Given the description of an element on the screen output the (x, y) to click on. 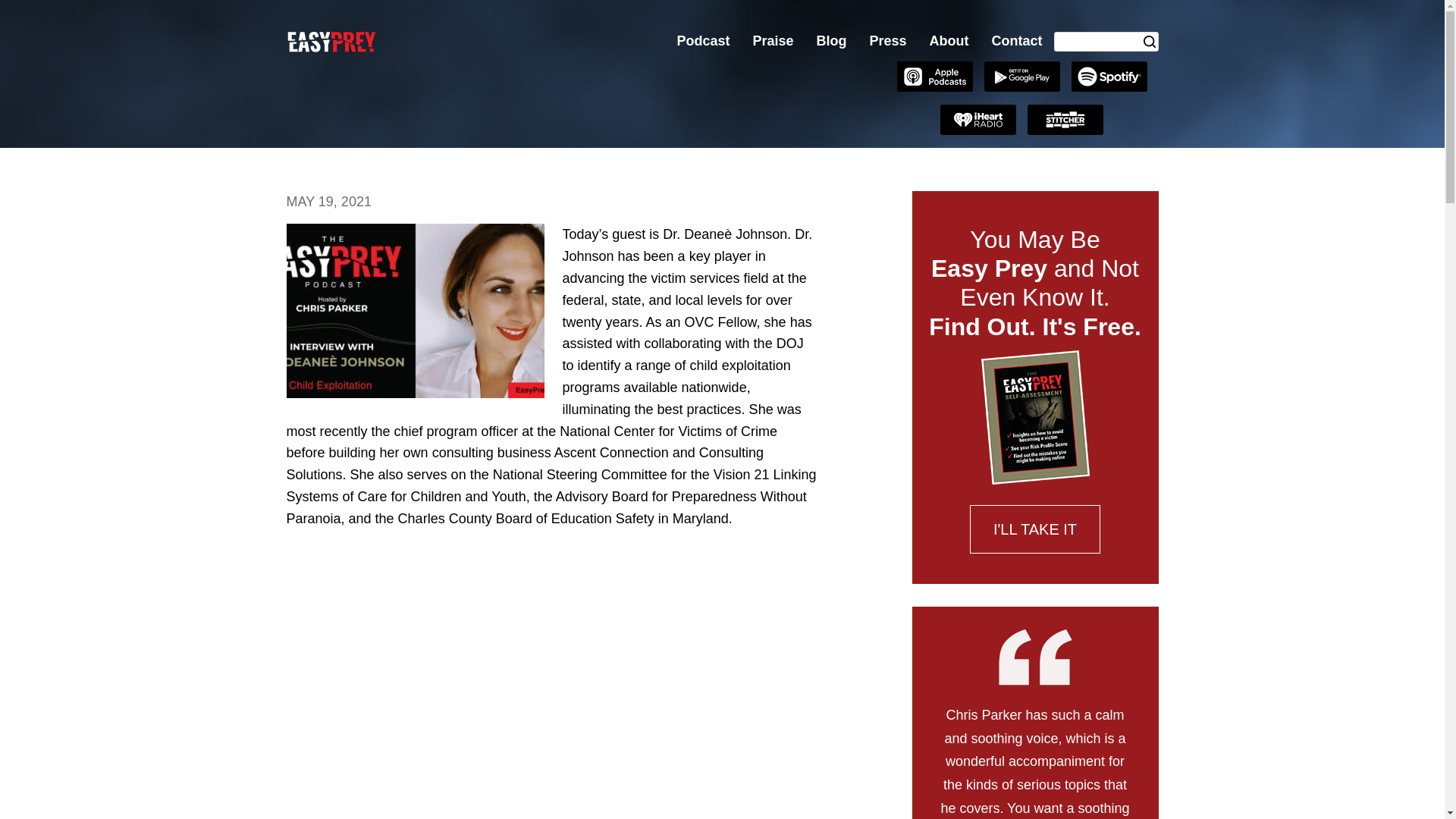
I'LL TAKE IT (1034, 529)
About (948, 40)
Press (887, 40)
Podcast (703, 40)
Search (1149, 41)
Search (1149, 41)
Praise (773, 40)
Contact (1015, 40)
Search (1149, 41)
Easy Prey Podcast (399, 41)
